Given the description of an element on the screen output the (x, y) to click on. 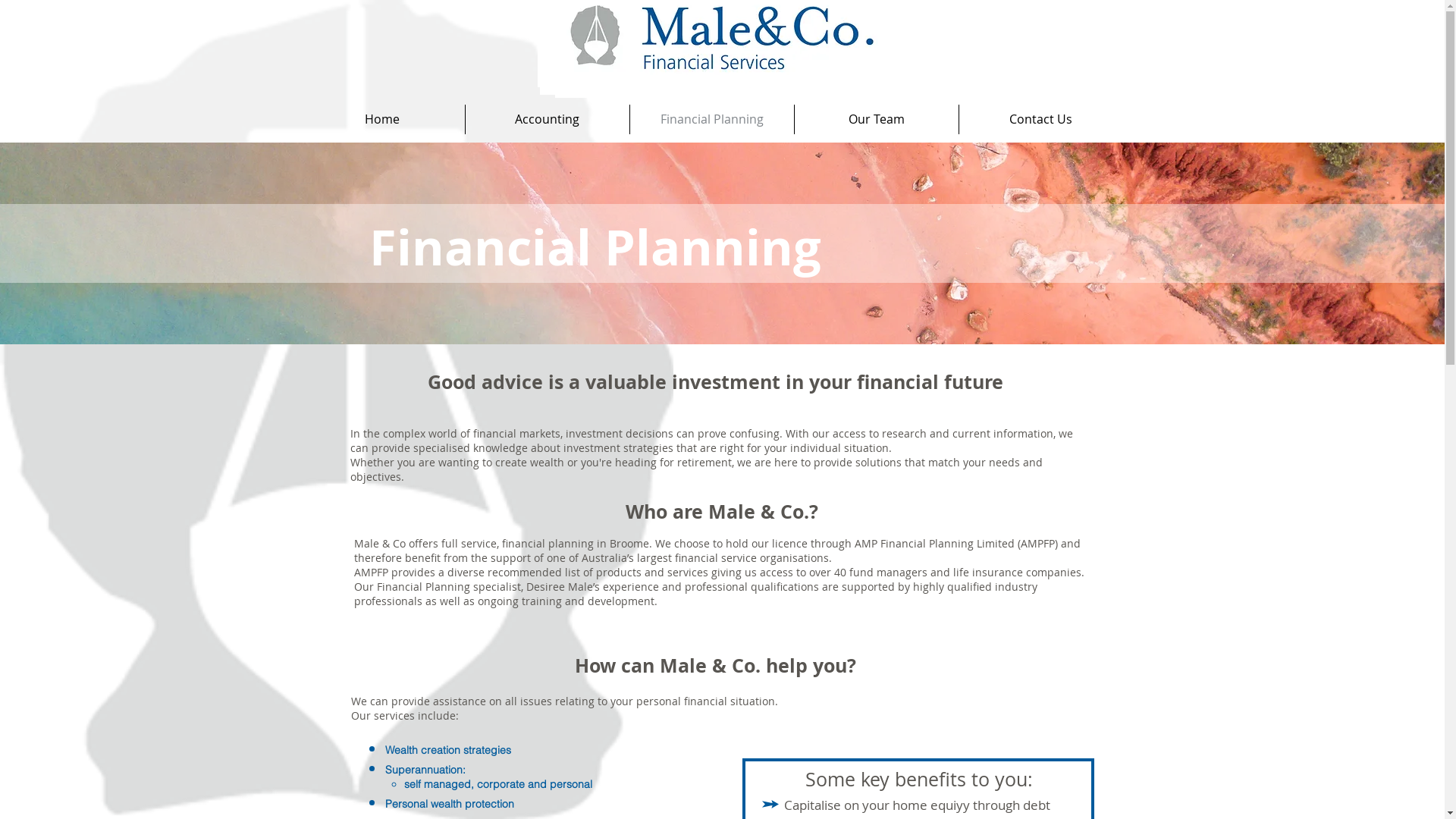
Contact Us Element type: text (1040, 119)
Financial Planning Element type: text (711, 119)
Home Element type: text (382, 119)
Our Team Element type: text (876, 119)
Accounting Element type: text (547, 119)
